Given the description of an element on the screen output the (x, y) to click on. 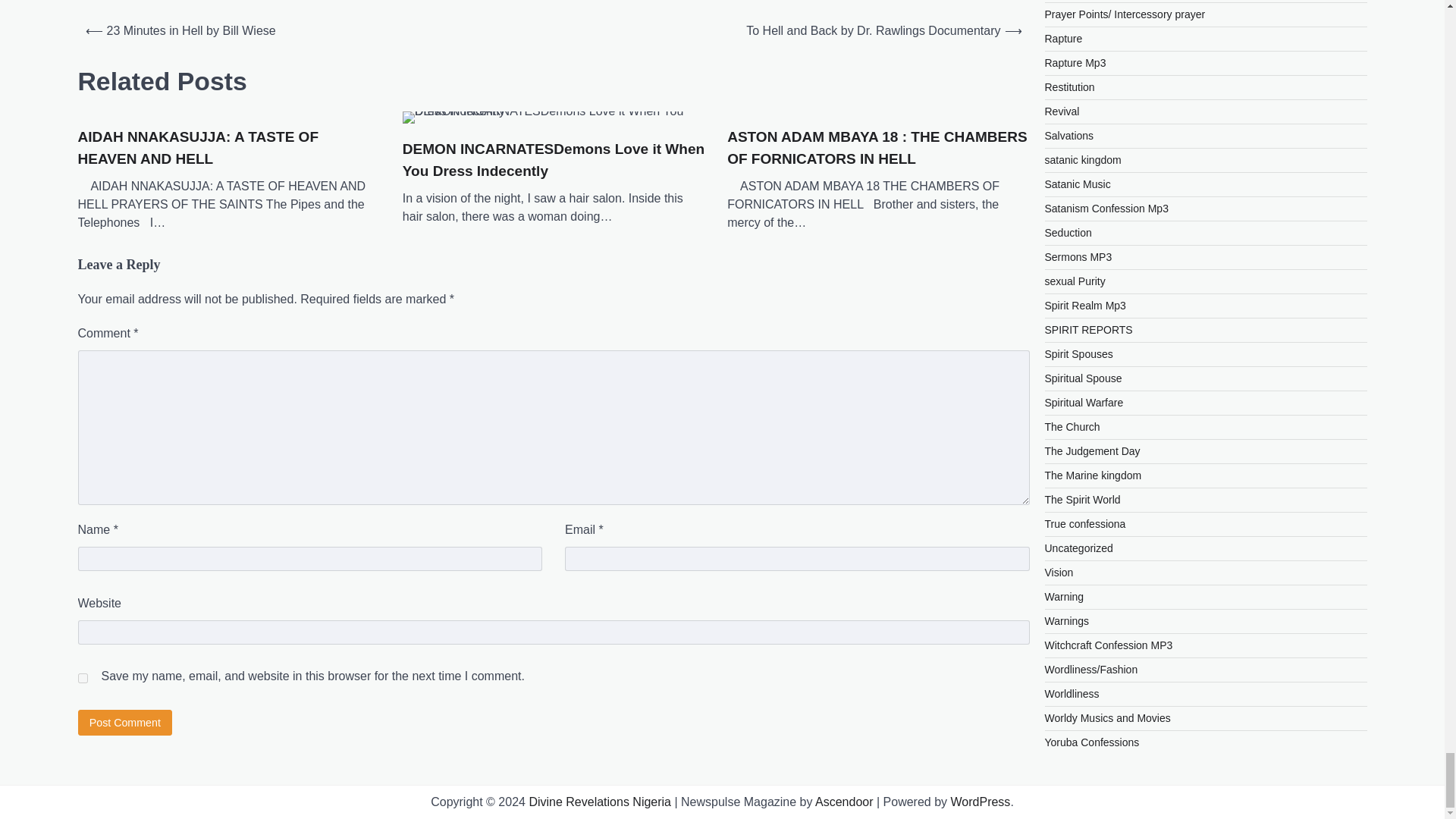
Post Comment (124, 722)
yes (82, 678)
DEMON INCARNATESDemons Love it When You Dress Indecently (553, 117)
